Given the description of an element on the screen output the (x, y) to click on. 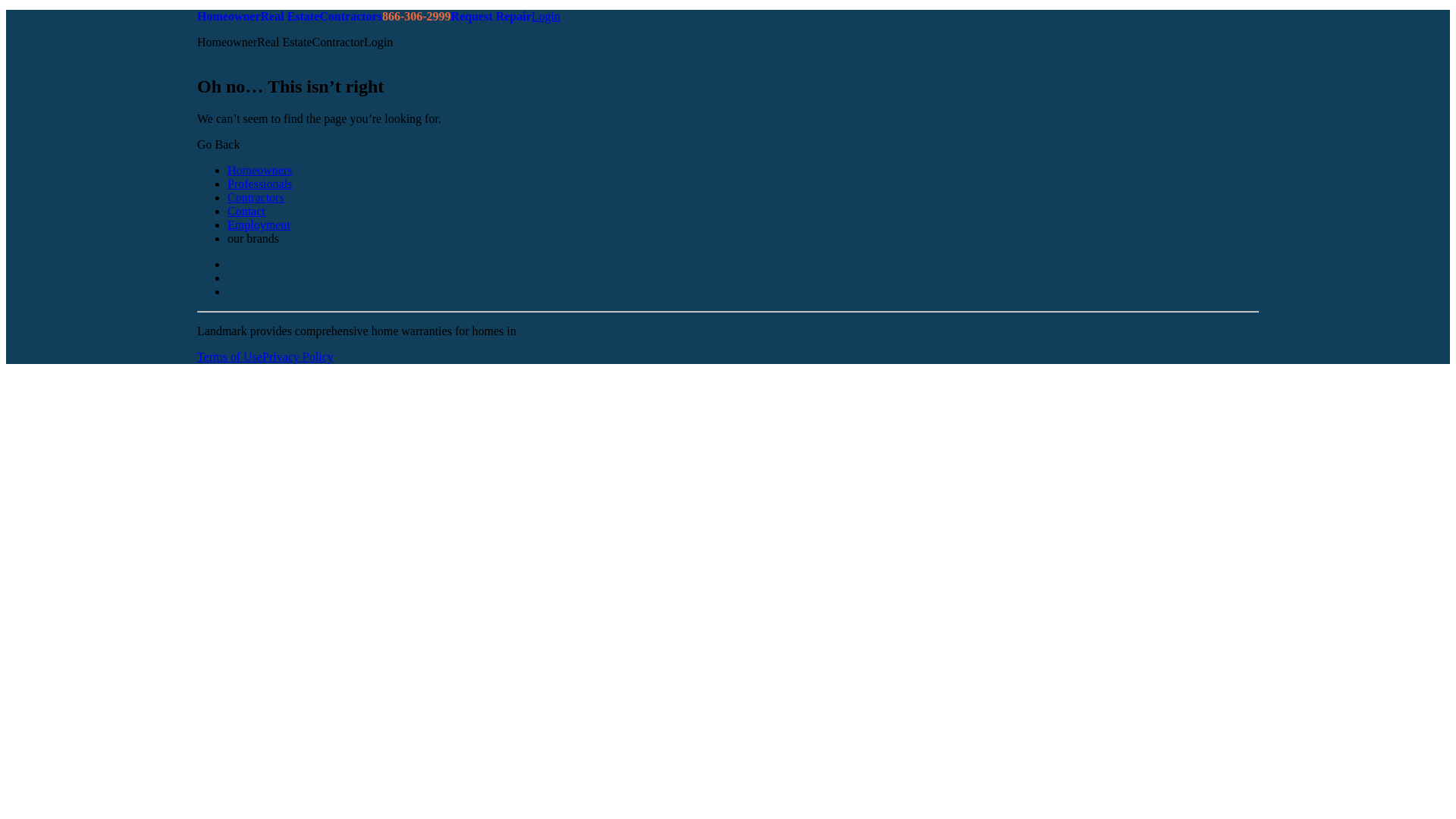
Employment (258, 224)
Real Estate (290, 15)
Go Back (218, 144)
Professionals (259, 183)
Contractors (349, 15)
866-306-2999 (416, 15)
Homeowners (259, 169)
Contractors (255, 196)
Login (545, 15)
Contact (245, 210)
